Given the description of an element on the screen output the (x, y) to click on. 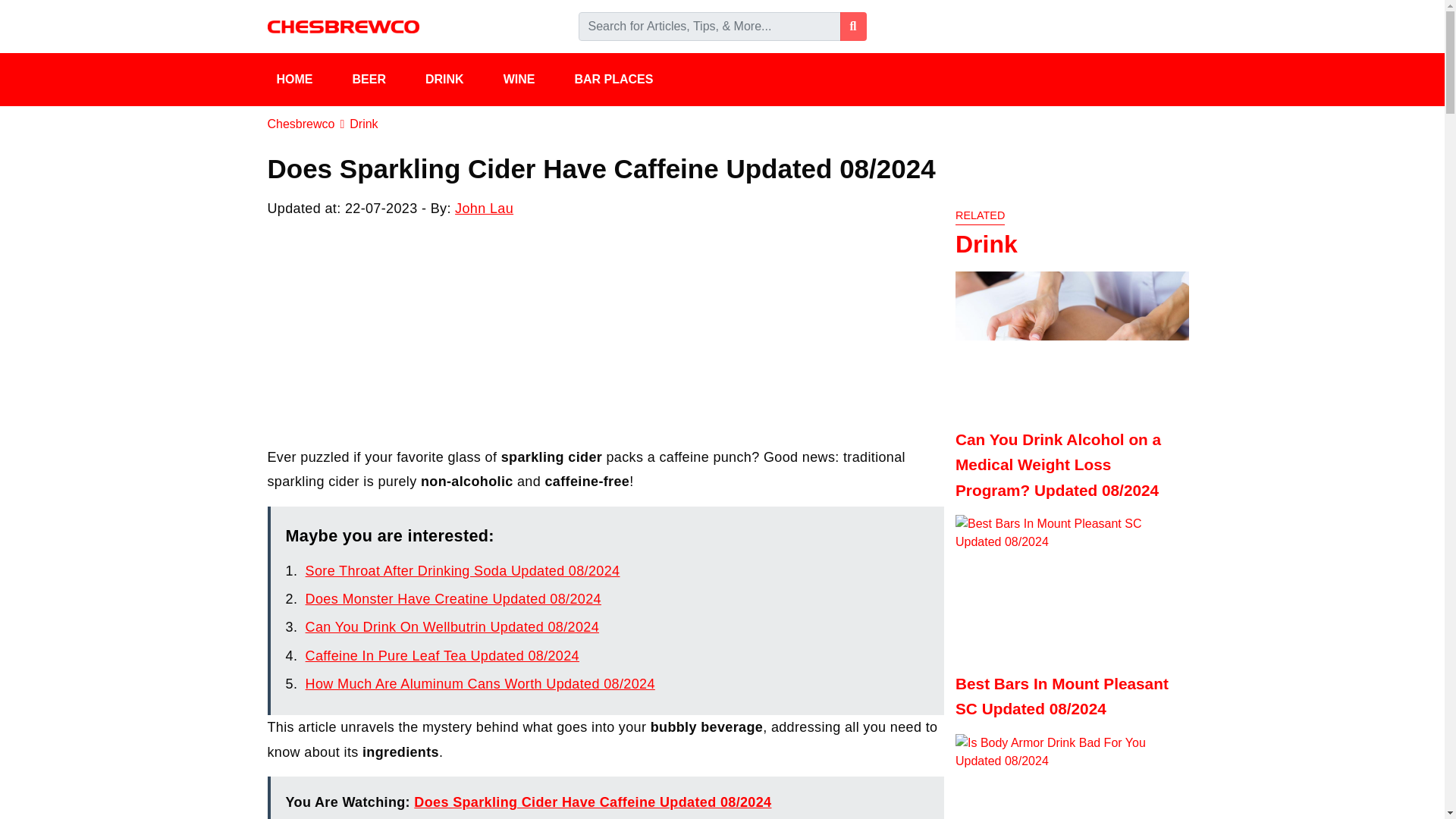
BEER (378, 79)
Go to the Drink Category archives. (363, 123)
HOME (304, 79)
Drink (363, 123)
BAR PLACES (623, 79)
John Lau (483, 207)
Chesbrewco (300, 123)
WINE (530, 79)
DRINK (455, 79)
Go to Chesbrewco. (300, 123)
